Given the description of an element on the screen output the (x, y) to click on. 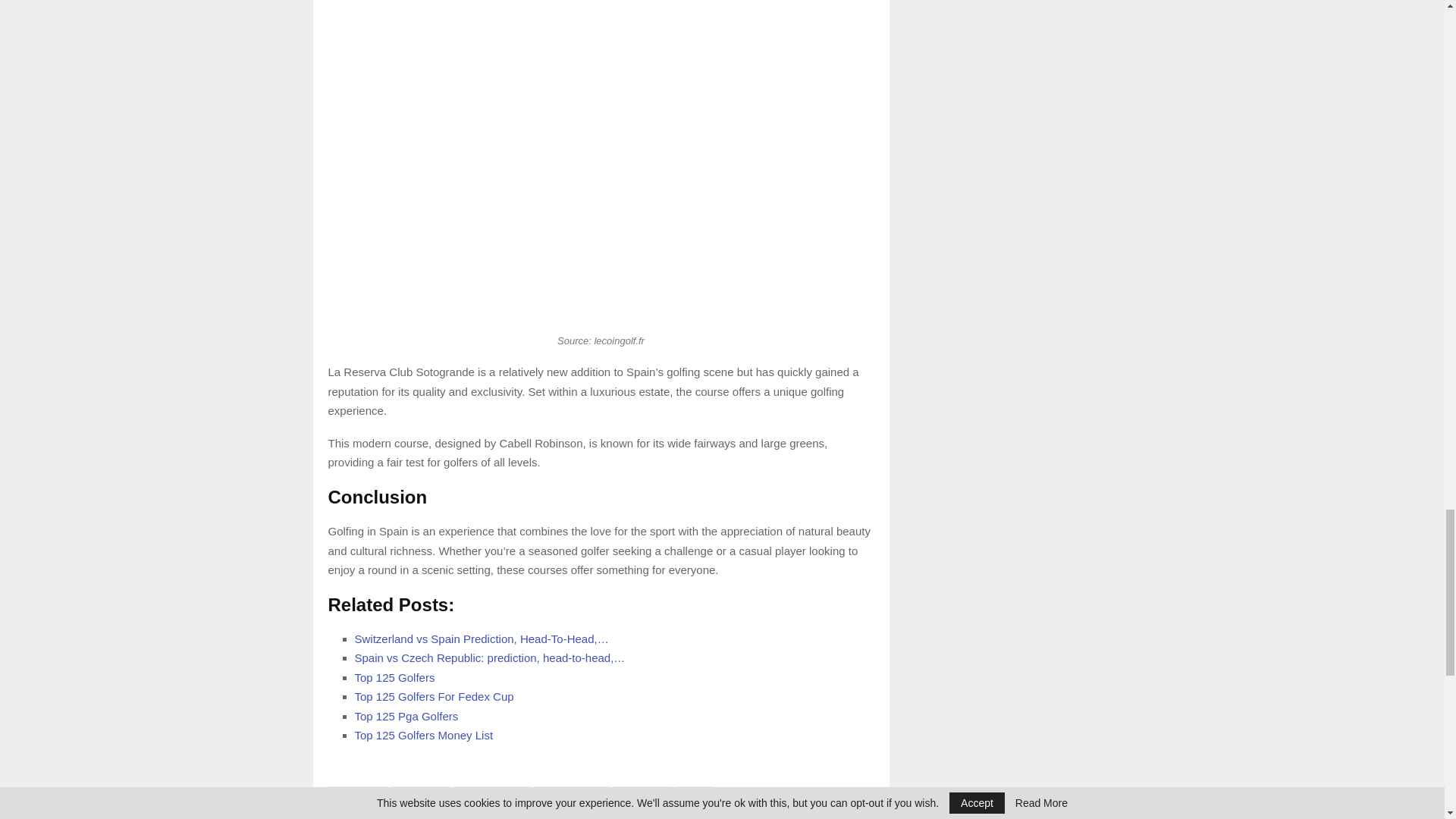
CATALONIA (420, 795)
Top 125 Golfers (395, 676)
GOLF COURSES (572, 795)
Top 125 Pga Golfers (406, 716)
ANDALUSIA (357, 795)
MALLORCA (641, 795)
Top 125 Golfers For Fedex Cup (434, 696)
Top 125 Golfers Money List (424, 735)
COSTA DEL SOL (491, 795)
SPAIN (694, 795)
